Given the description of an element on the screen output the (x, y) to click on. 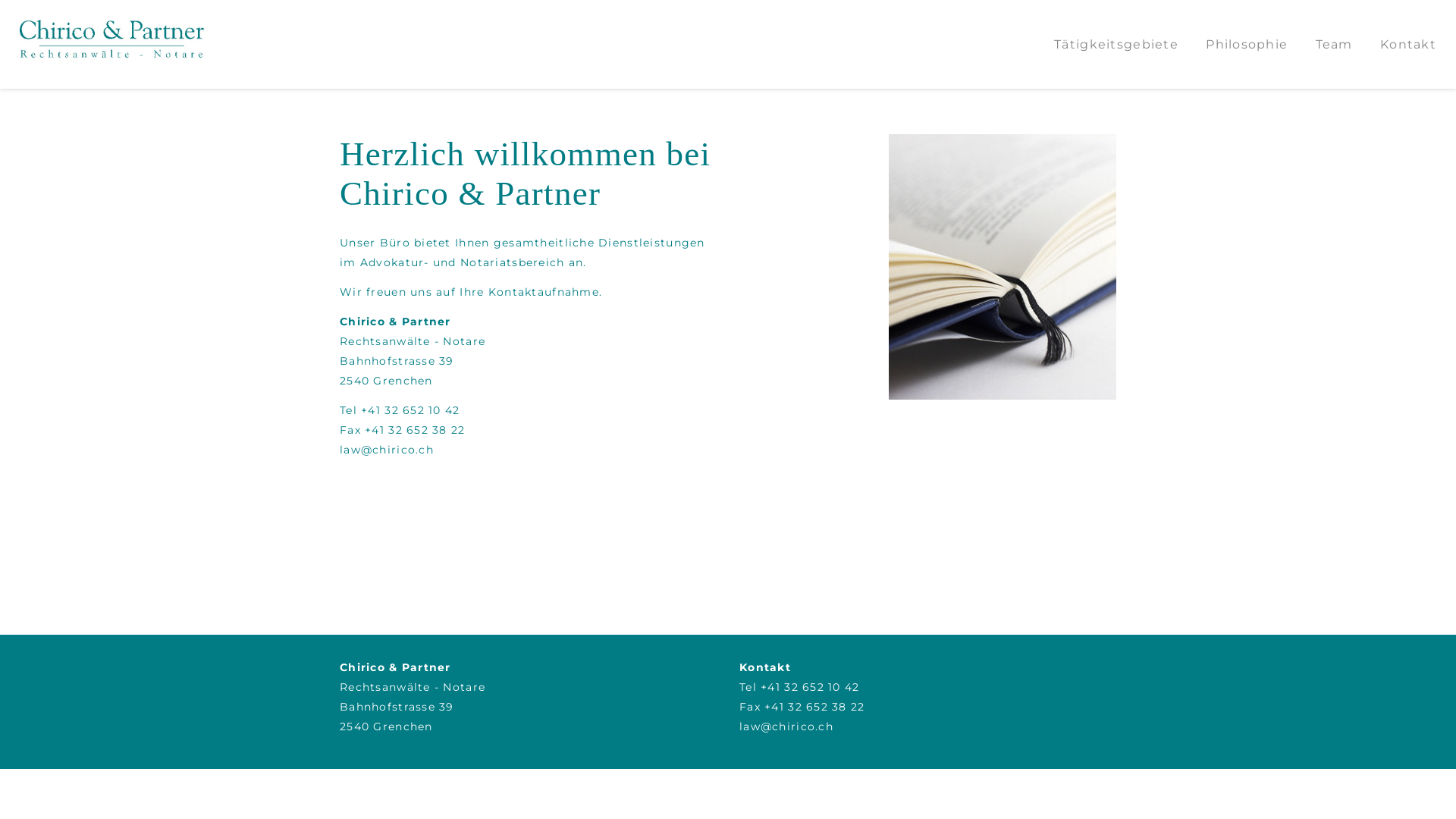
Team Element type: text (1323, 44)
law@chirico.ch Element type: text (386, 449)
Kontakt Element type: text (1398, 44)
law@chirico.ch Element type: text (786, 726)
Philosophie Element type: text (1236, 44)
